Given the description of an element on the screen output the (x, y) to click on. 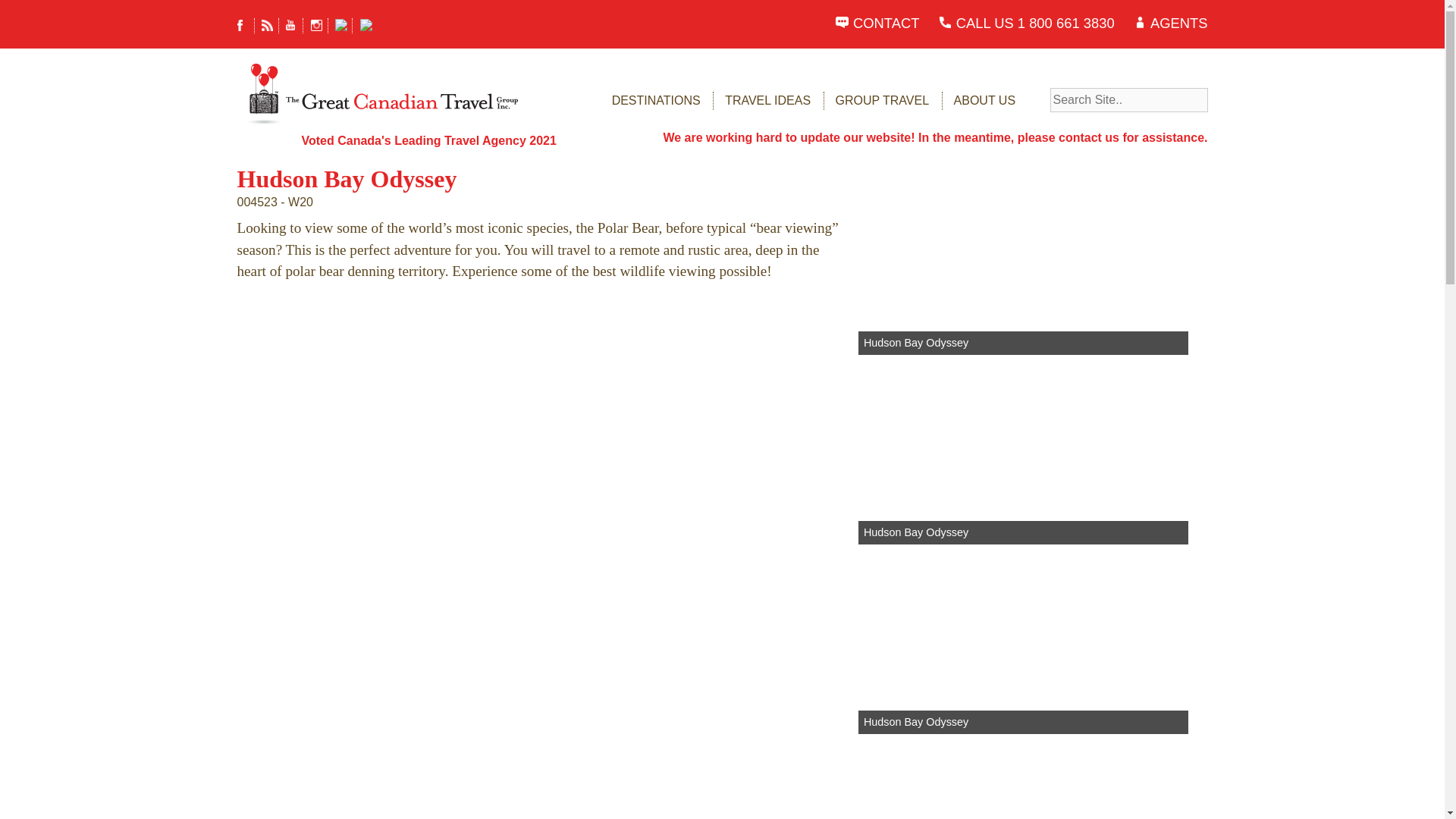
Hudson Bay Odyssey -- Churchill Wild Polar Bear Safaris (478, 428)
DESTINATIONS (655, 100)
AGENTS (1179, 23)
1 800 661 3830 (1066, 23)
TRAVEL IDEAS (767, 100)
CONTACT (886, 23)
